Given the description of an element on the screen output the (x, y) to click on. 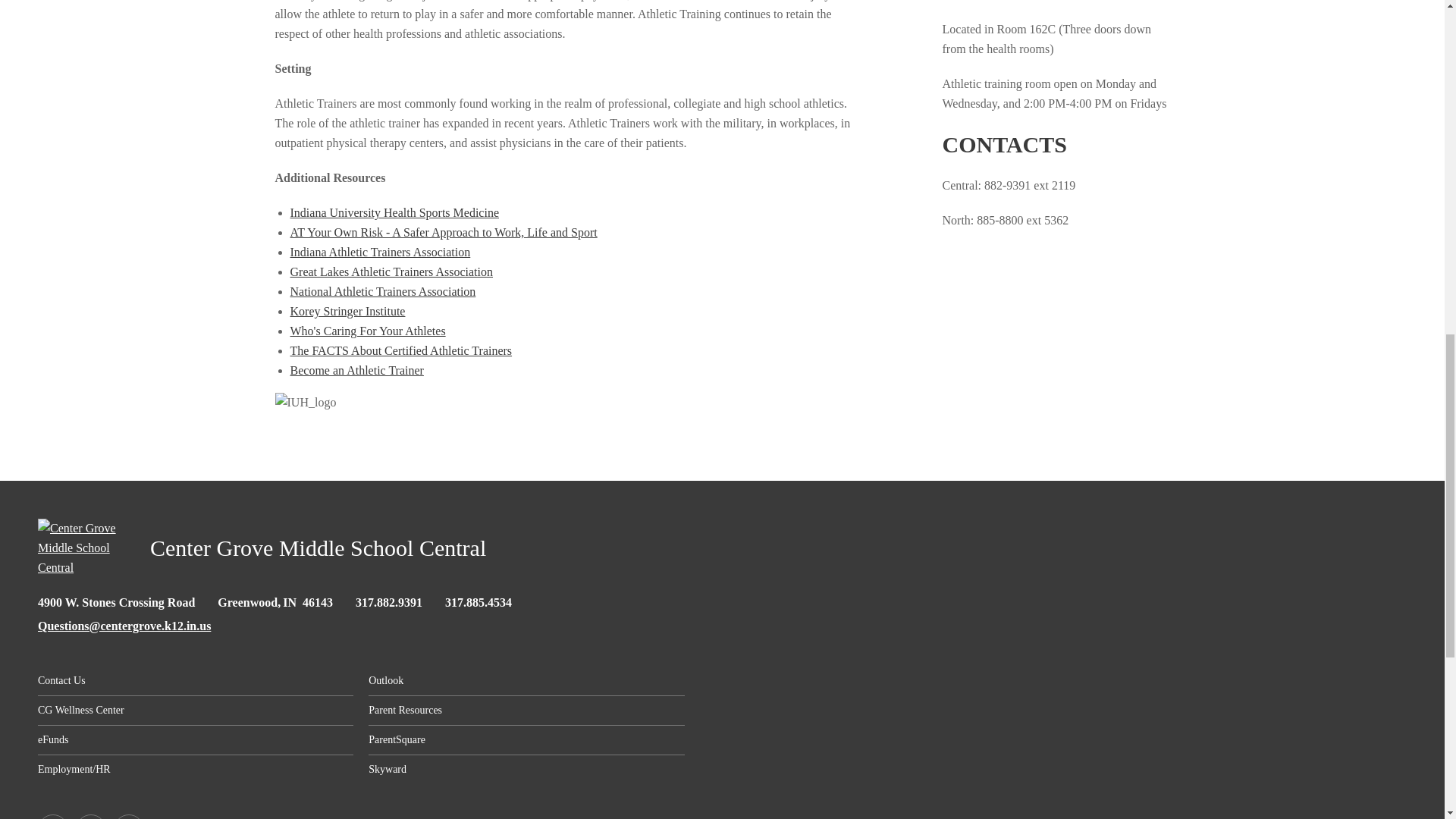
Email (124, 625)
